Given the description of an element on the screen output the (x, y) to click on. 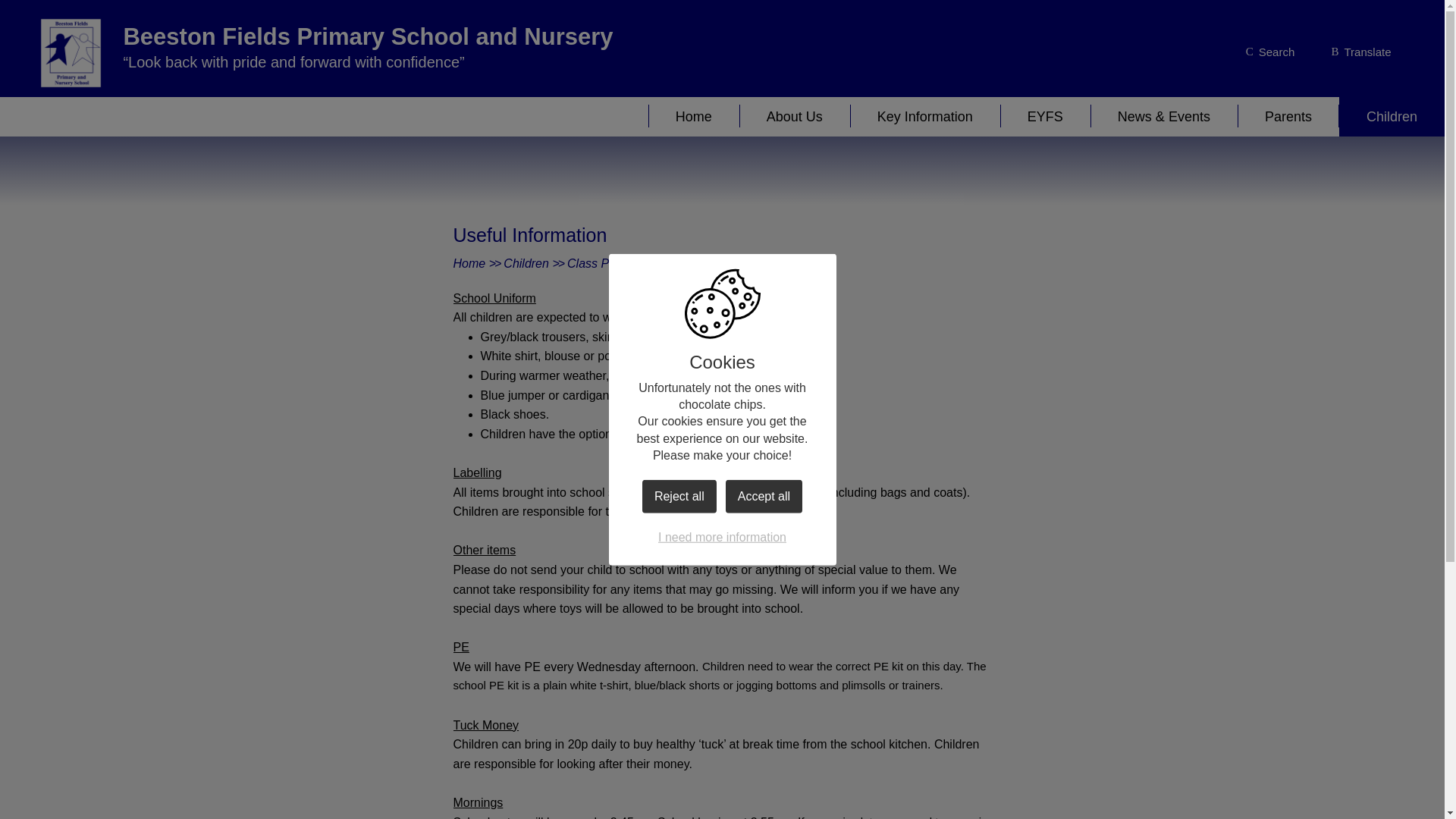
About Us (794, 116)
Home (693, 116)
Key Information (925, 116)
